Given the description of an element on the screen output the (x, y) to click on. 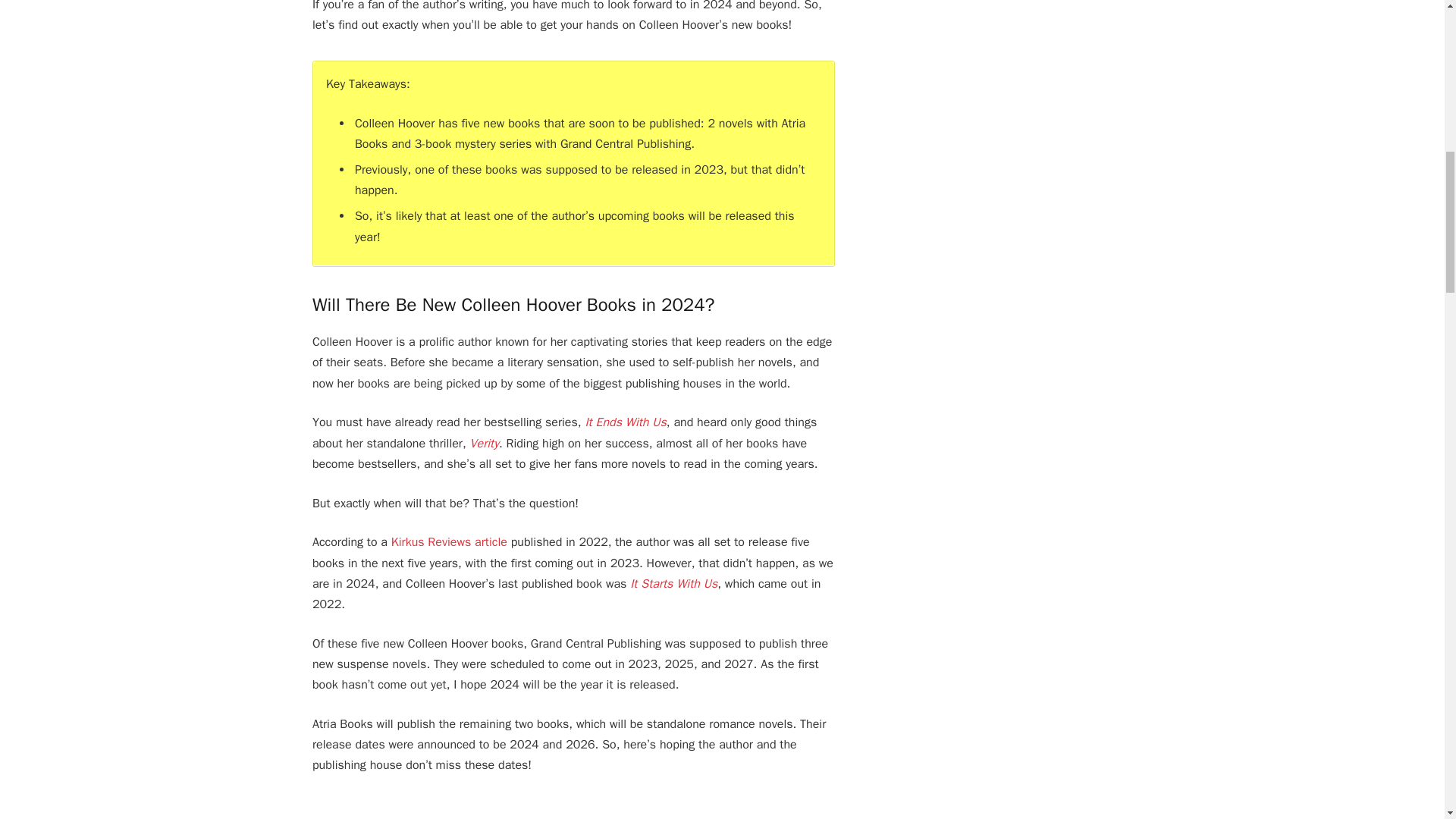
It Ends With Us (625, 421)
Verity (484, 443)
